Given the description of an element on the screen output the (x, y) to click on. 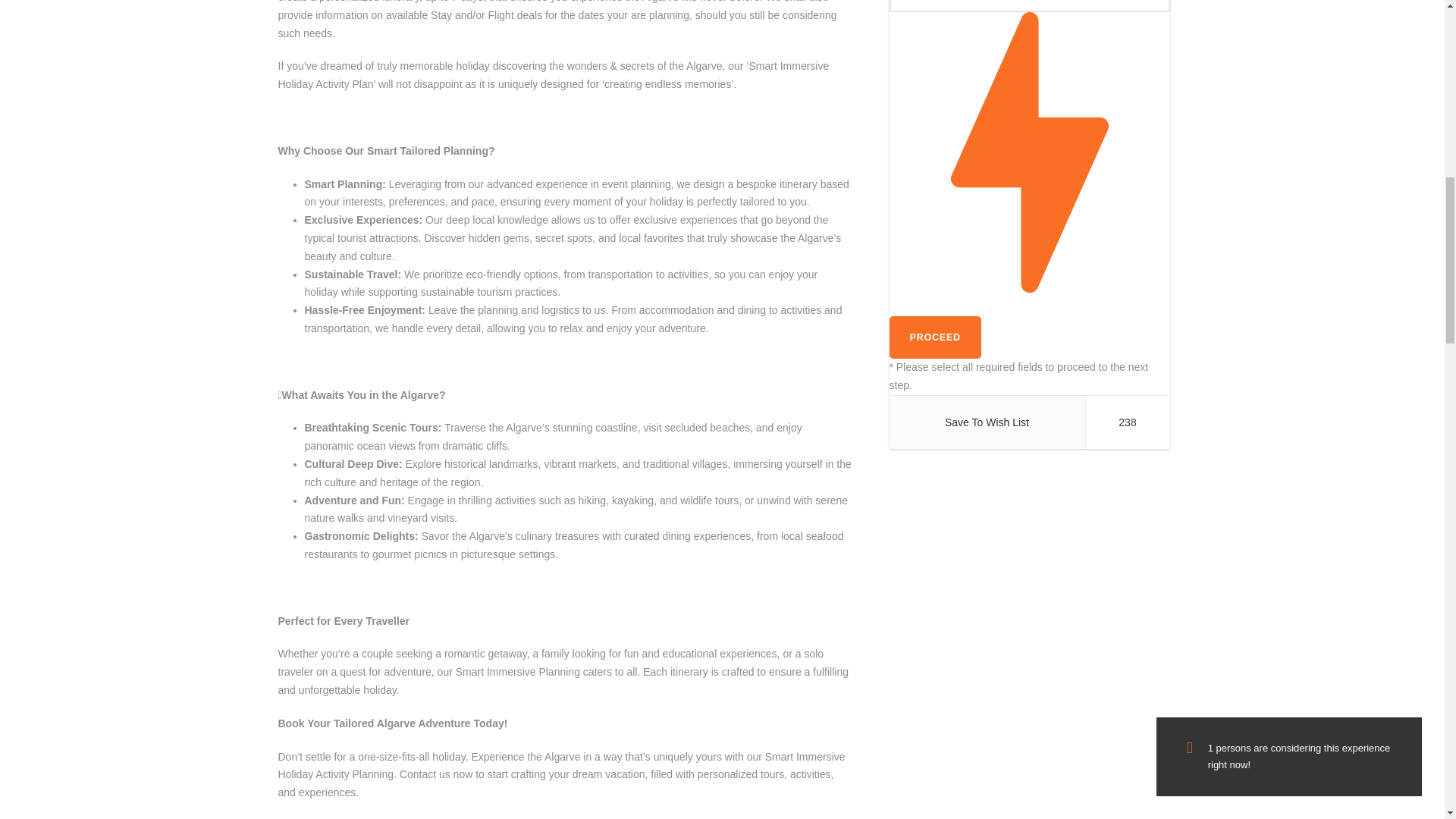
Proceed (933, 337)
2024-08-20 (1028, 6)
Proceed (933, 337)
